Given the description of an element on the screen output the (x, y) to click on. 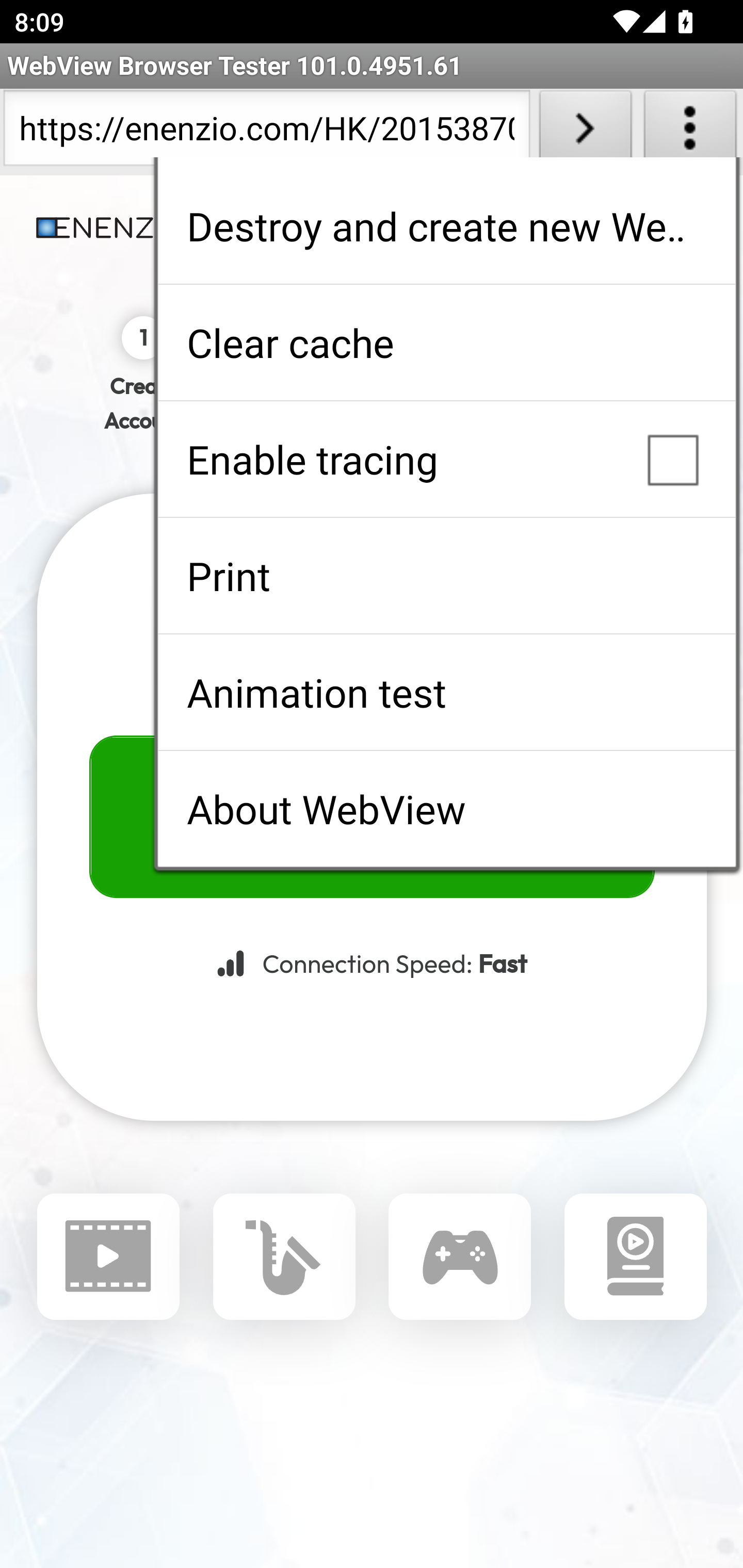
Destroy and create new WebView (446, 225)
Clear cache (446, 342)
Enable tracing (446, 459)
Print (446, 575)
Animation test (446, 692)
About WebView (446, 809)
